Given the description of an element on the screen output the (x, y) to click on. 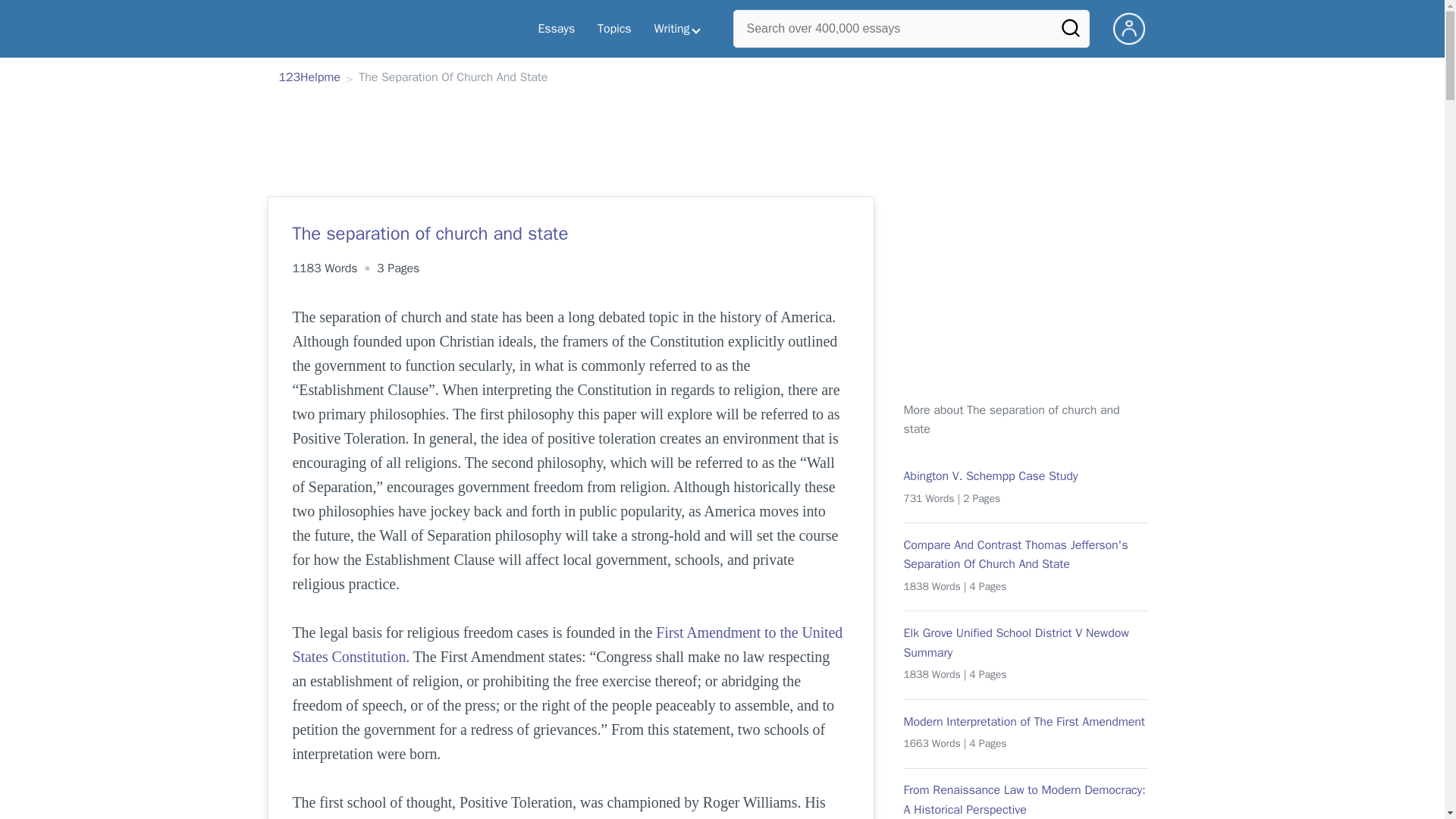
Writing (677, 28)
Essays (555, 28)
Topics (614, 28)
First Amendment to the United States Constitution (569, 644)
123Helpme (309, 78)
